Given the description of an element on the screen output the (x, y) to click on. 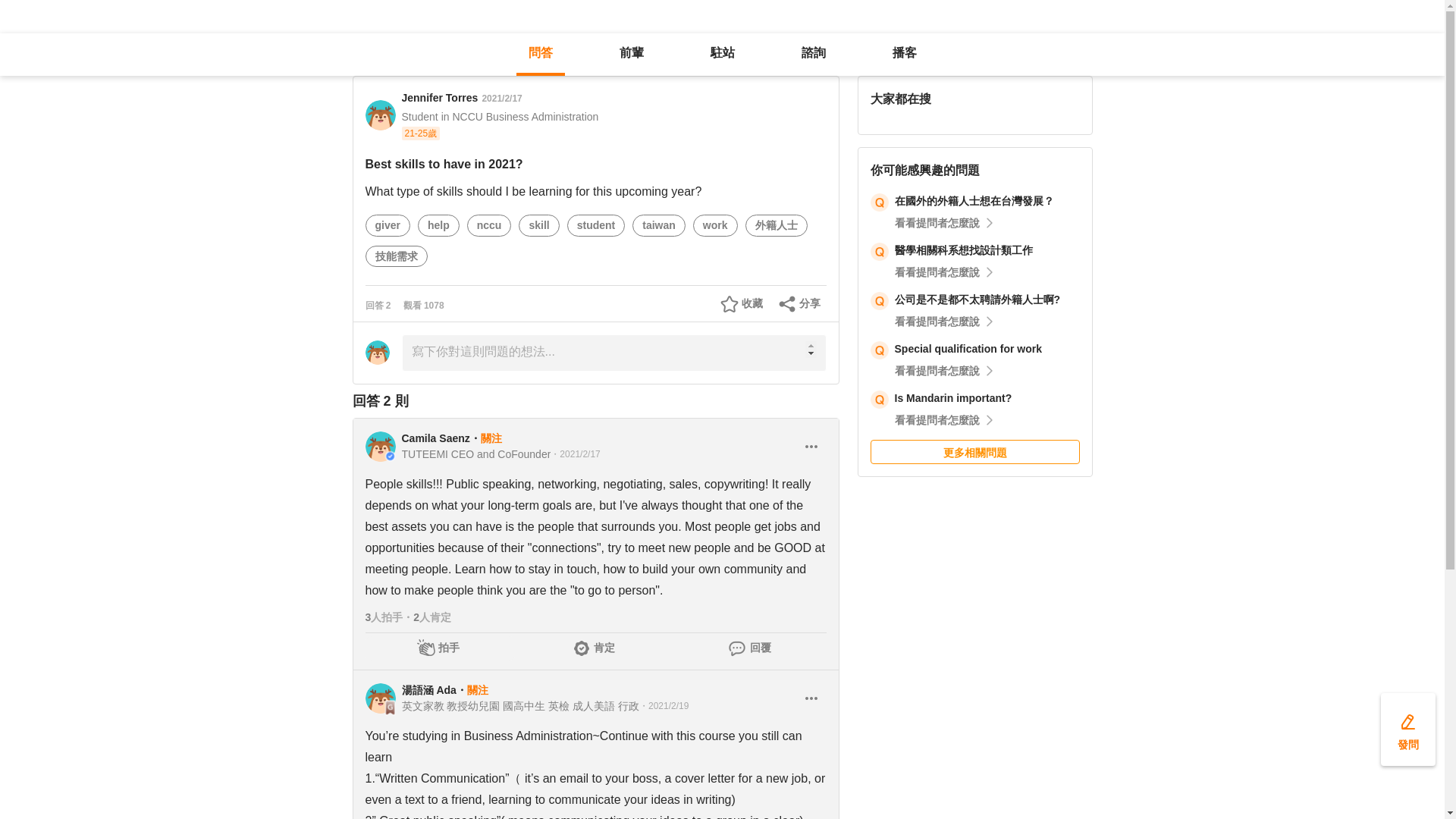
Camila Saenz (435, 437)
taiwan (658, 224)
TUTEEMI CEO and CoFounder (476, 453)
nccu (489, 224)
help (438, 224)
Best skills to have in 2021? (523, 58)
work (715, 224)
student (595, 224)
skill (538, 224)
giver (386, 224)
